Given the description of an element on the screen output the (x, y) to click on. 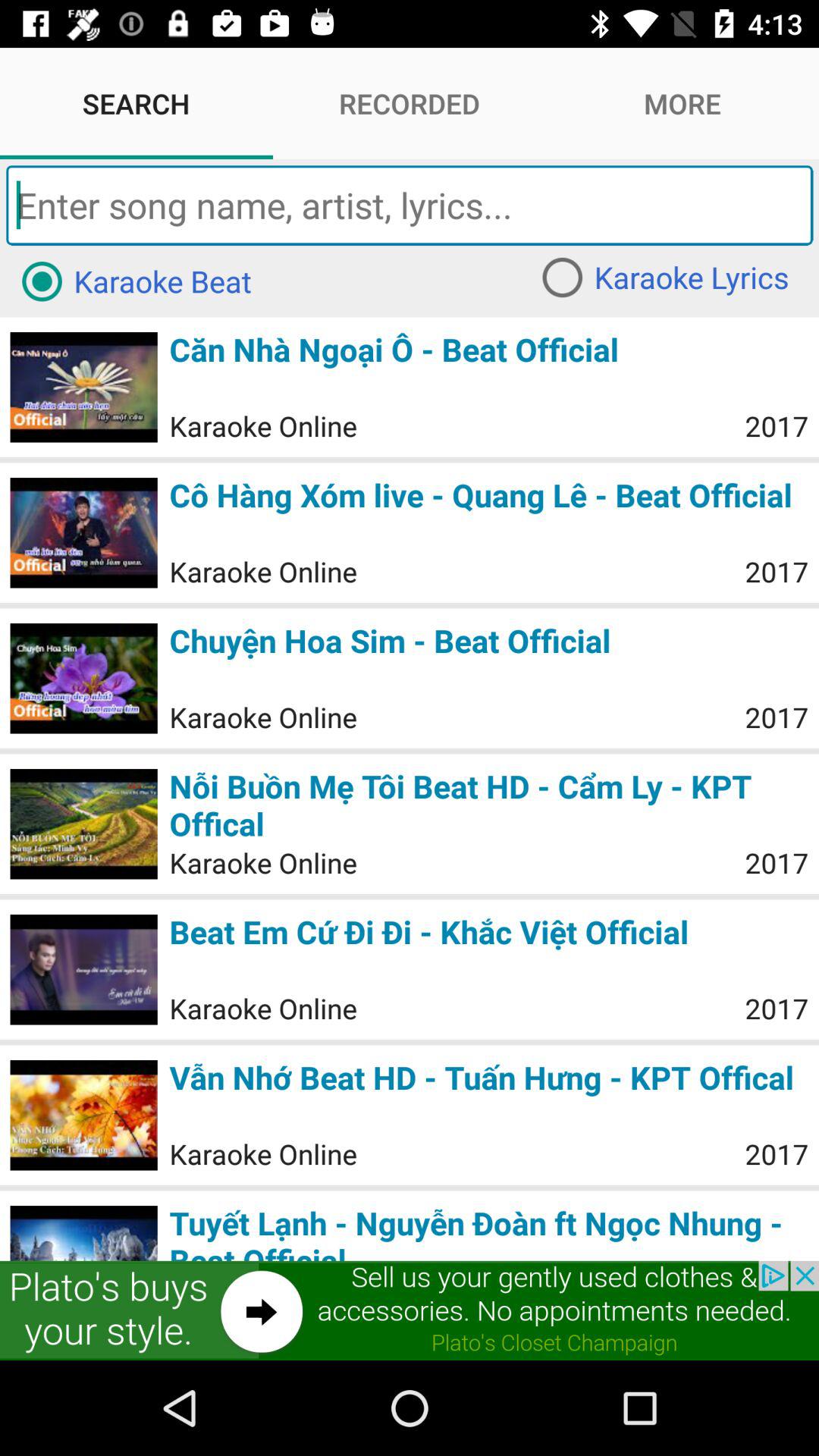
enter the word (409, 205)
